Given the description of an element on the screen output the (x, y) to click on. 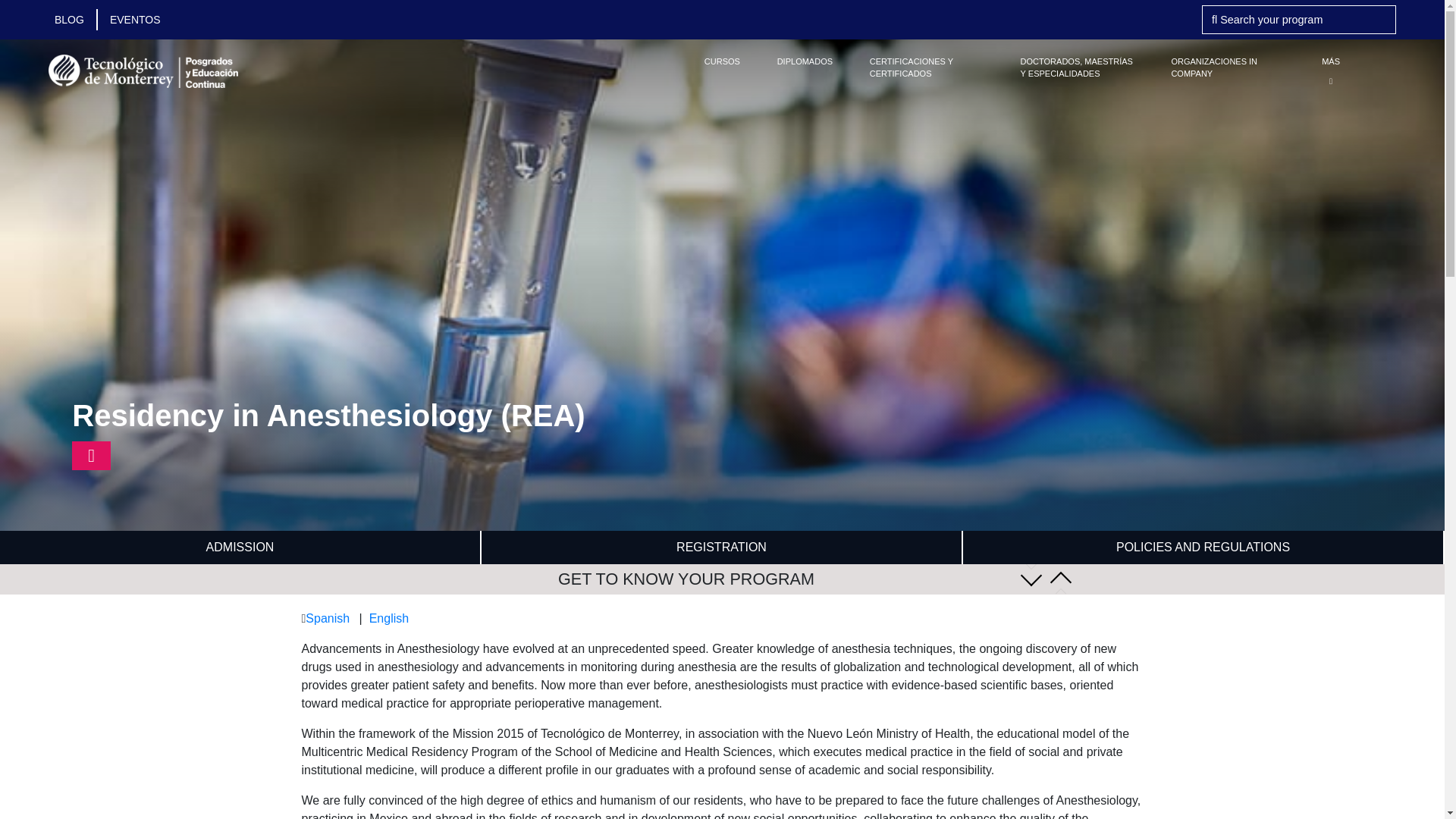
EVENTOS (135, 19)
CERTIFICACIONES Y CERTIFICADOS (926, 67)
DIPLOMADOS (805, 61)
BLOG (76, 19)
ORGANIZACIONES IN COMPANY (1227, 67)
CURSOS (722, 61)
